Given the description of an element on the screen output the (x, y) to click on. 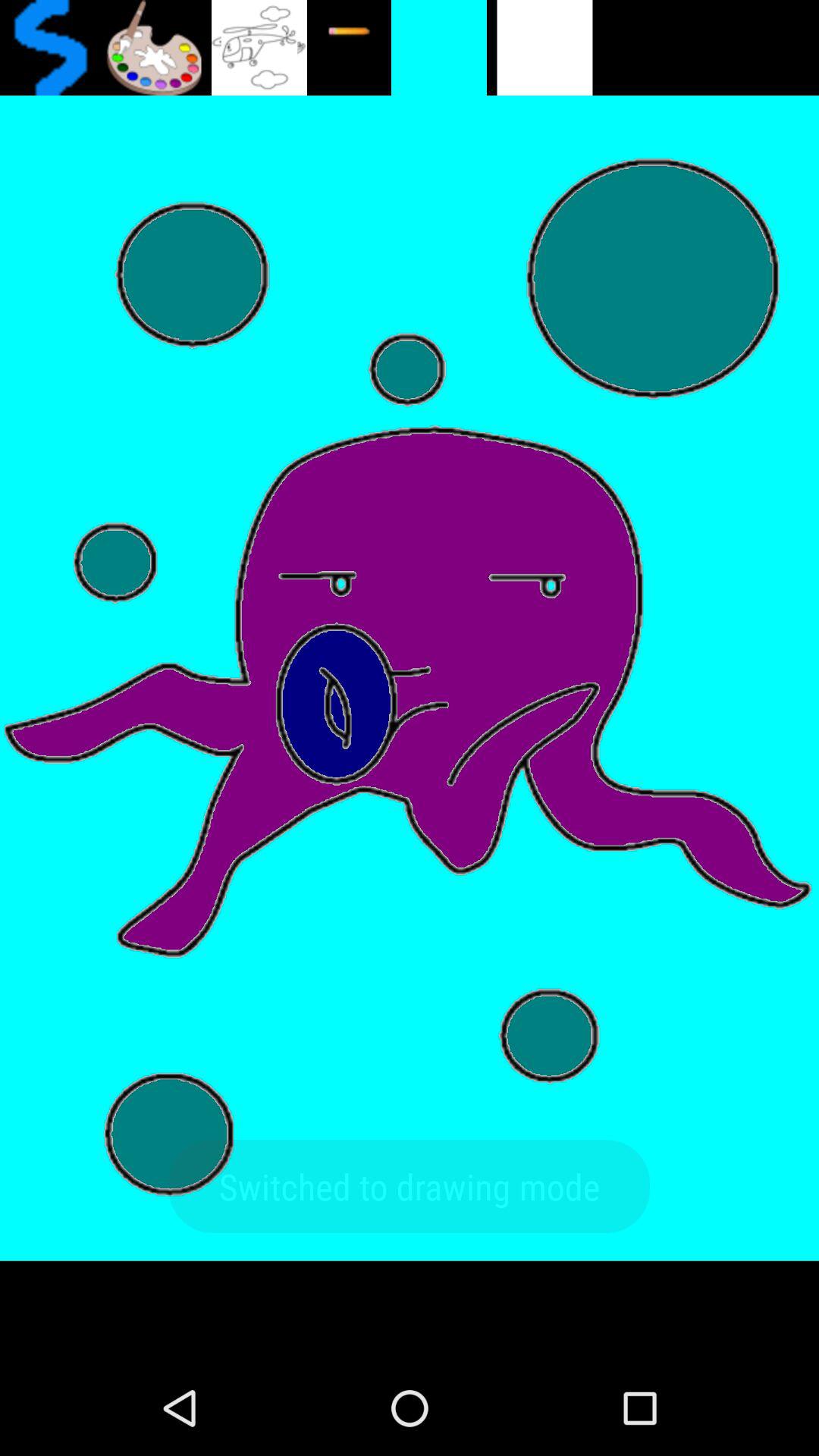
colour page (153, 47)
